Given the description of an element on the screen output the (x, y) to click on. 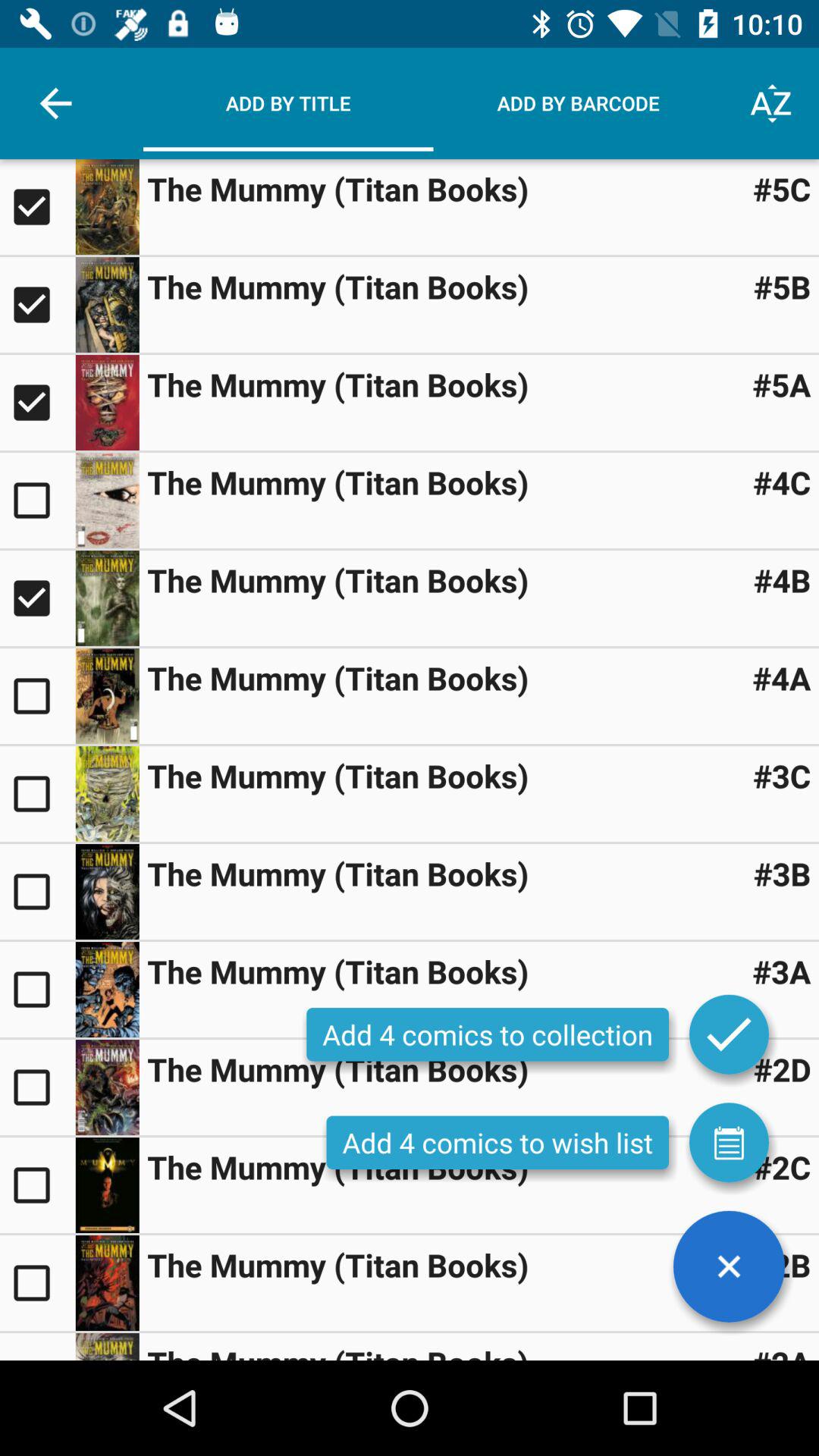
select the mummy (37, 206)
